Given the description of an element on the screen output the (x, y) to click on. 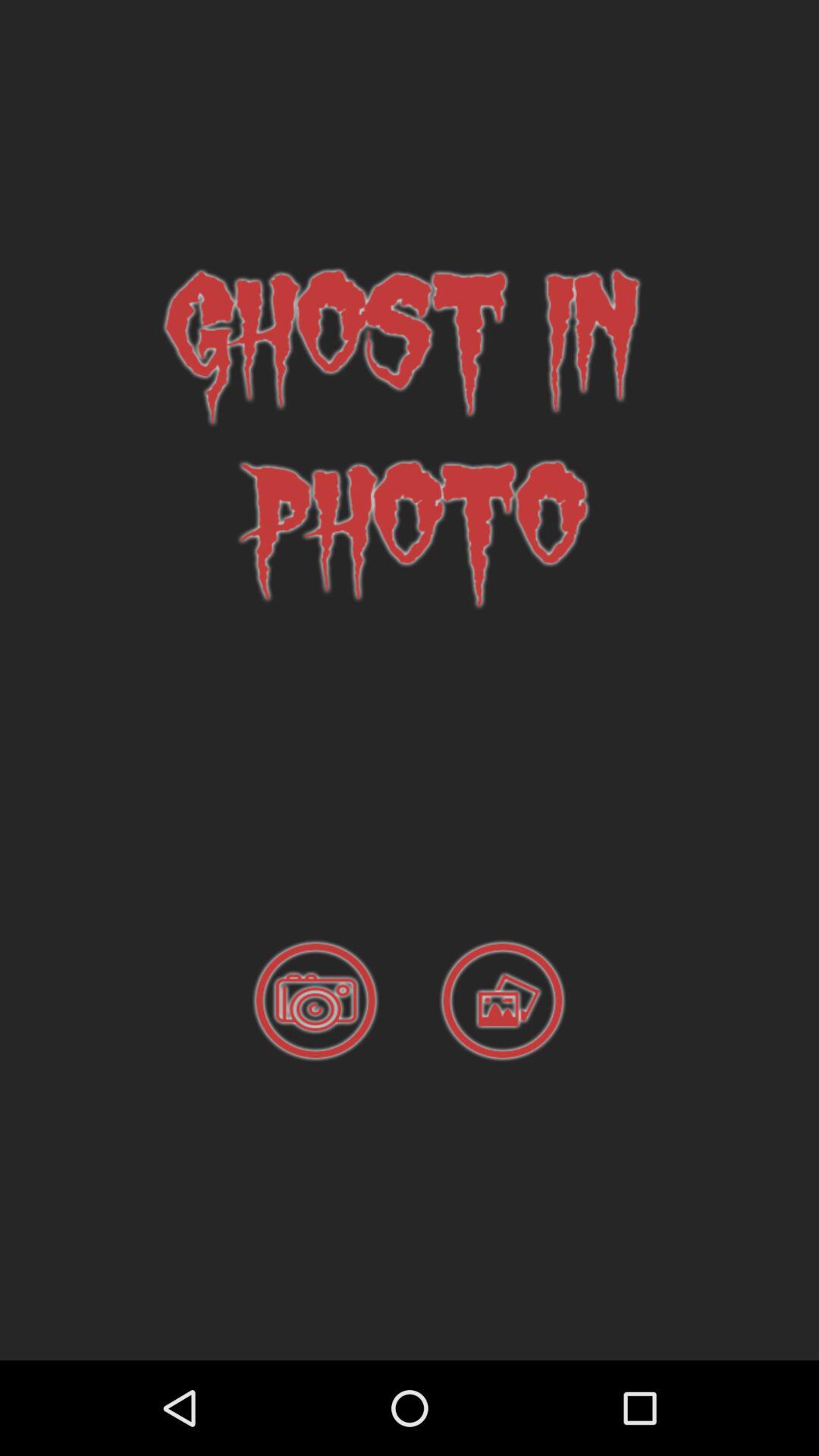
take a photo (315, 1000)
